Given the description of an element on the screen output the (x, y) to click on. 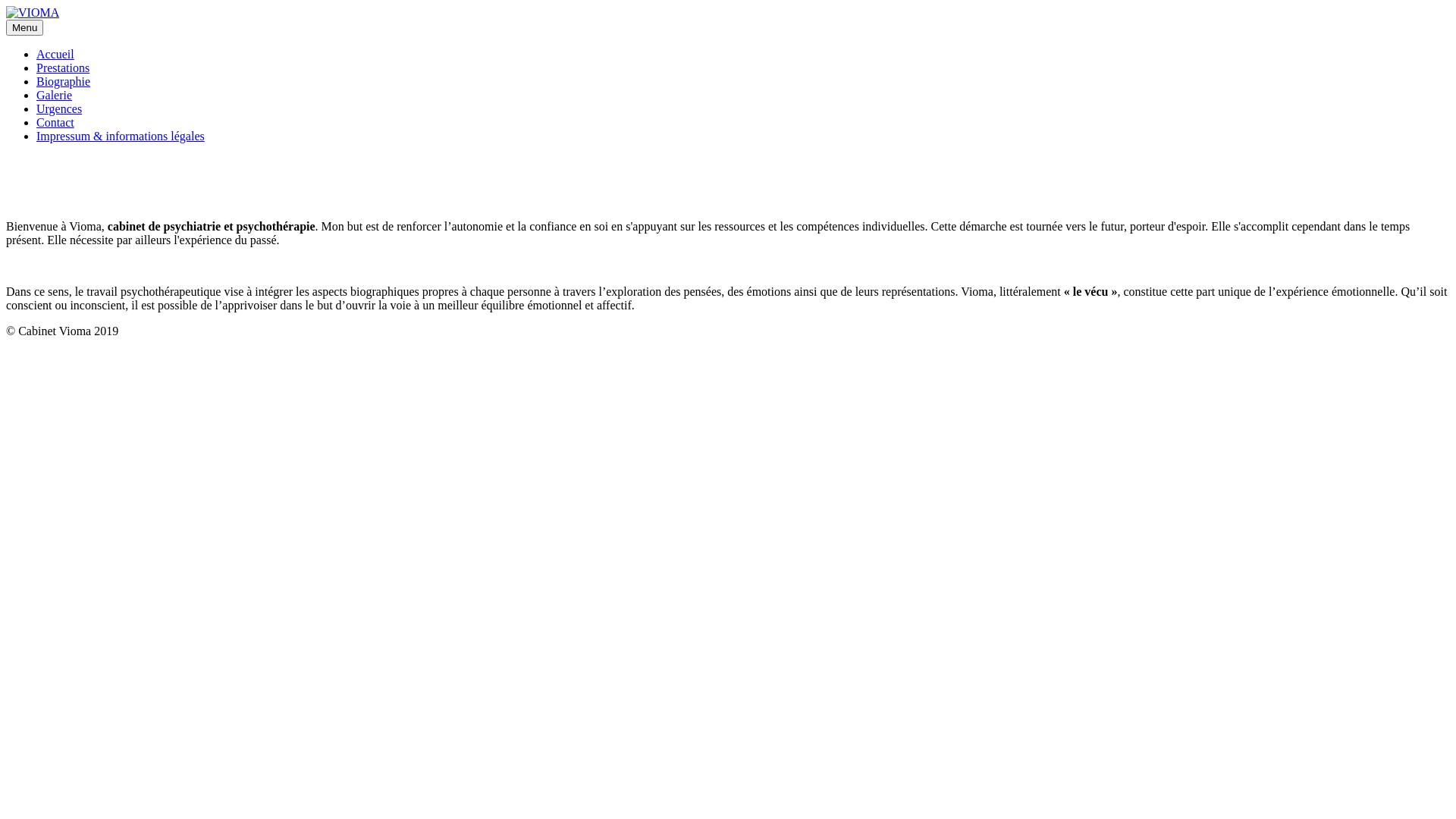
Contact Element type: text (55, 122)
Galerie Element type: text (54, 94)
Biographie Element type: text (63, 81)
Urgences Element type: text (58, 108)
VIOMA Element type: hover (32, 12)
Accueil Element type: text (55, 53)
Prestations Element type: text (62, 67)
Menu Element type: text (24, 27)
